Given the description of an element on the screen output the (x, y) to click on. 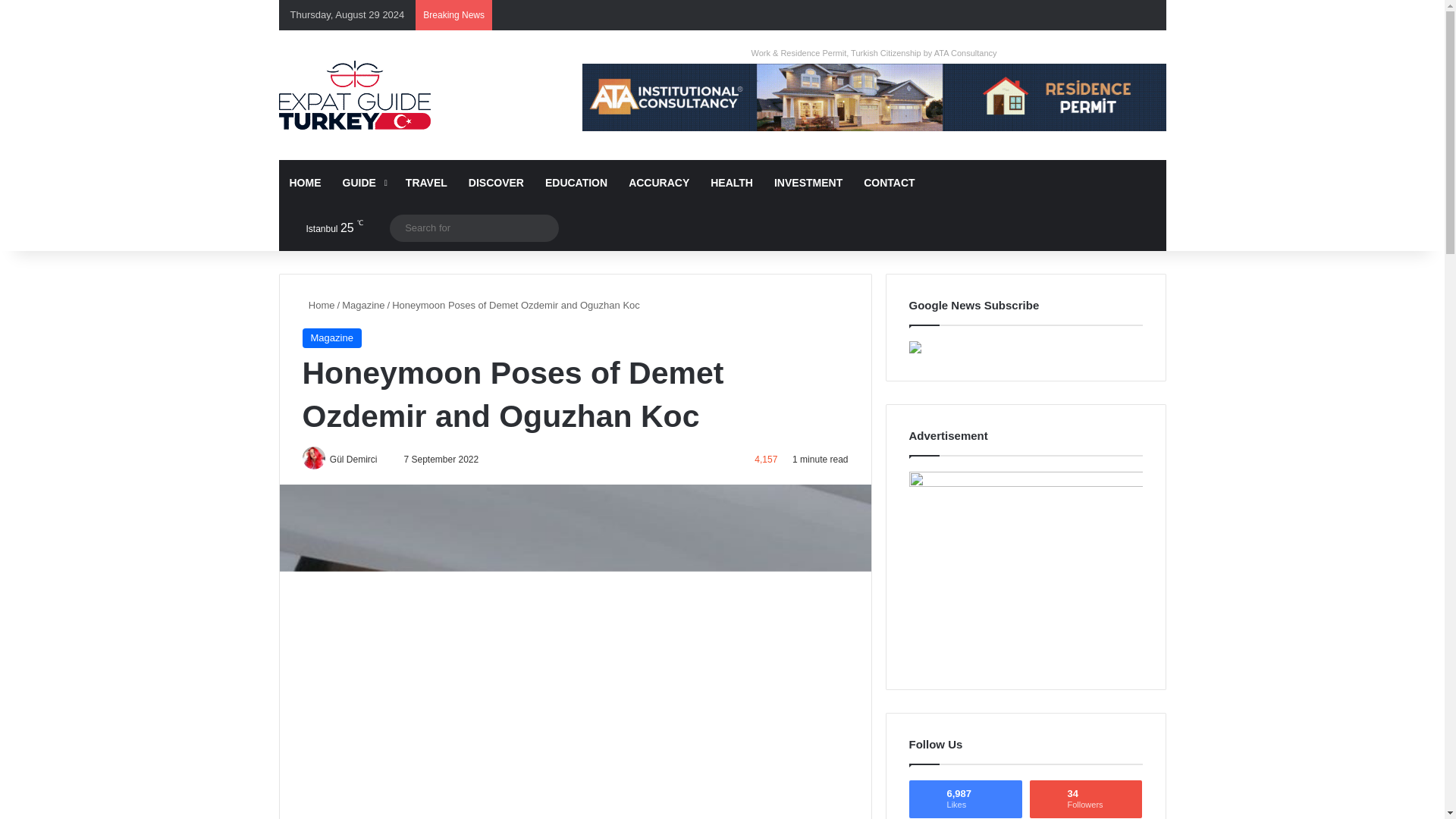
GUIDE (362, 182)
Expat Guide Turkey (354, 94)
Magazine (363, 305)
Magazine (331, 338)
EDUCATION (575, 182)
HOME (305, 182)
CONTACT (888, 182)
INVESTMENT (807, 182)
Clear Sky (321, 227)
Home (317, 305)
